Given the description of an element on the screen output the (x, y) to click on. 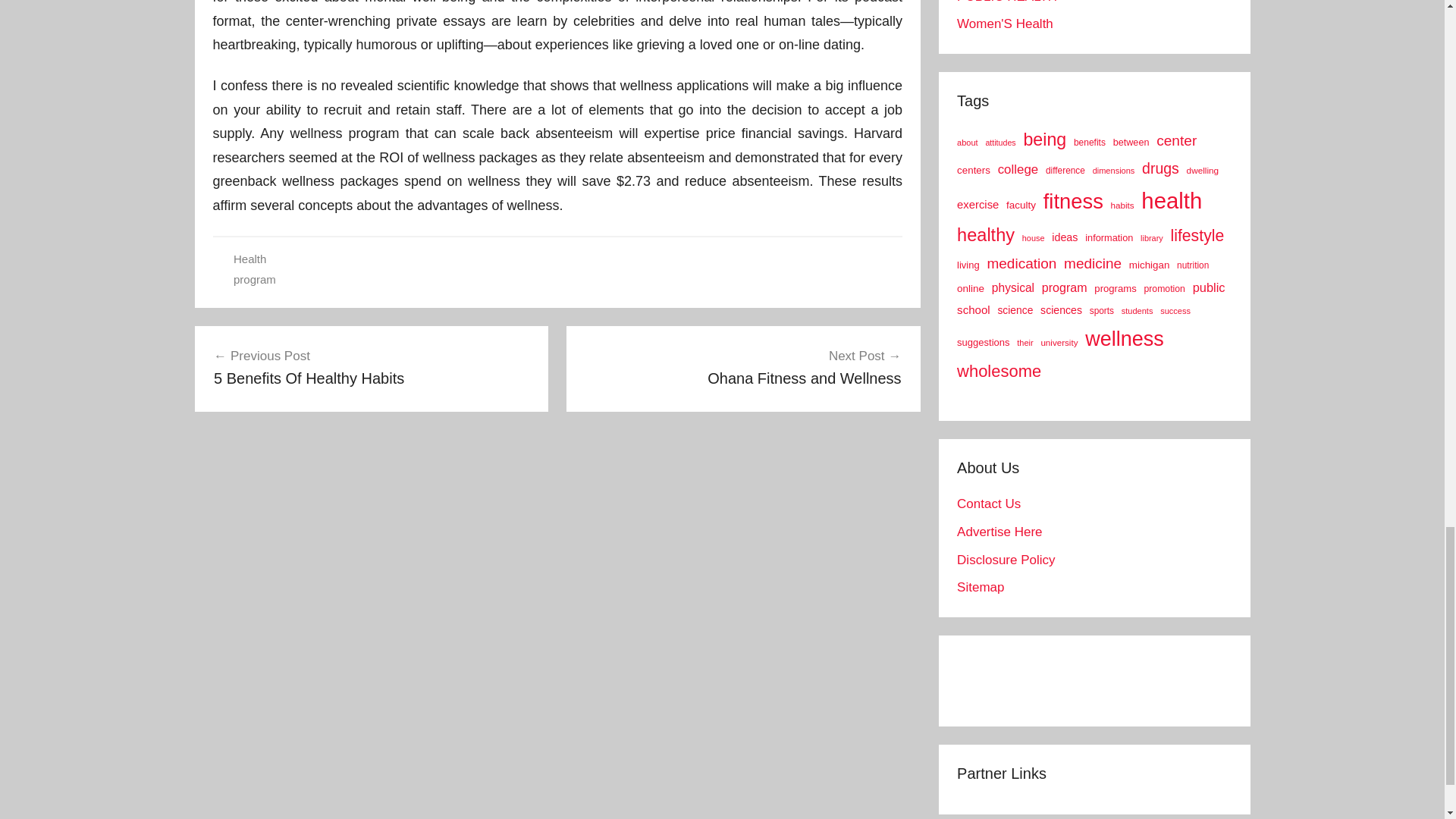
program (254, 278)
Health (249, 258)
